Given the description of an element on the screen output the (x, y) to click on. 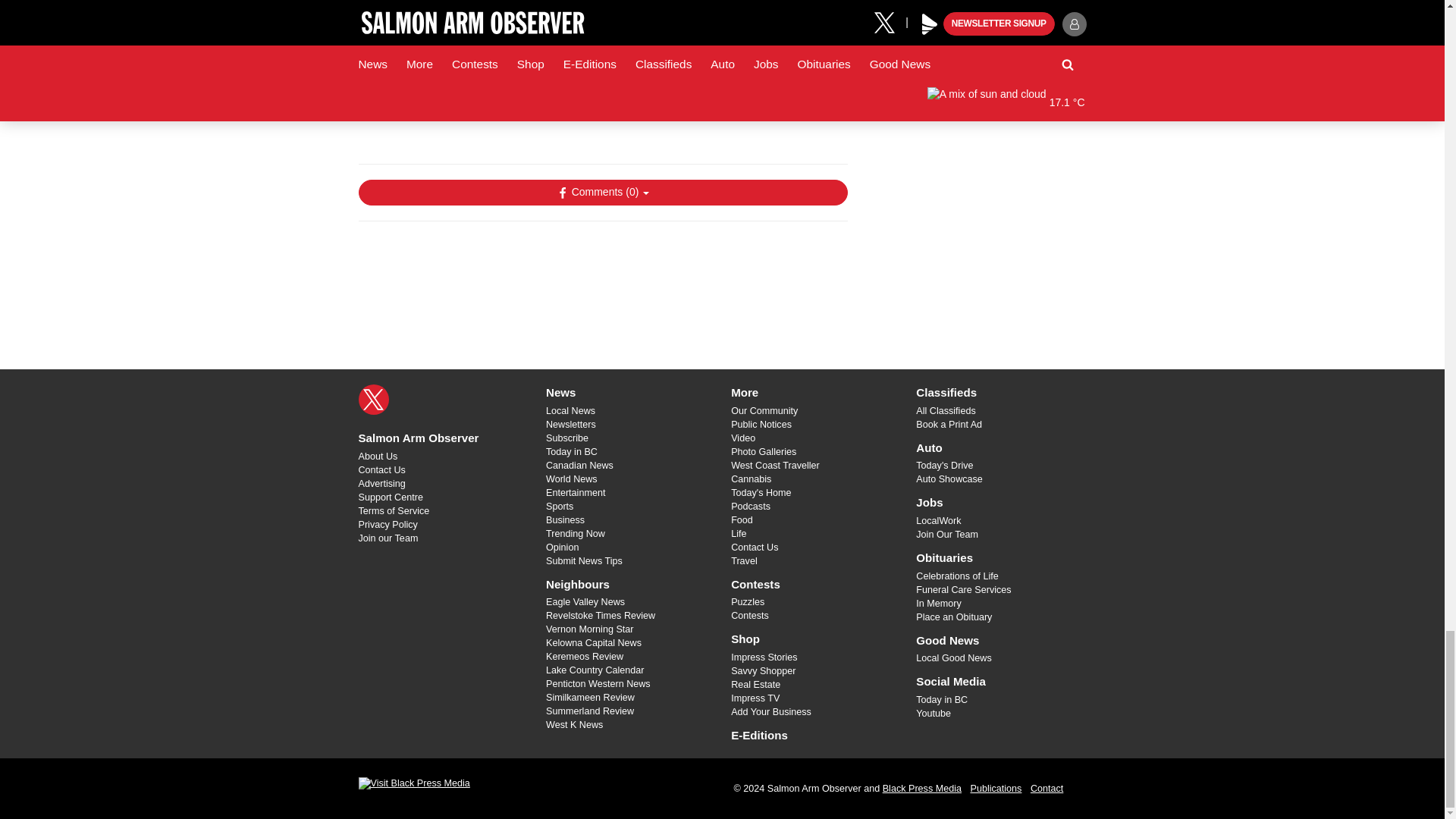
Show Comments (602, 192)
X (373, 399)
